Given the description of an element on the screen output the (x, y) to click on. 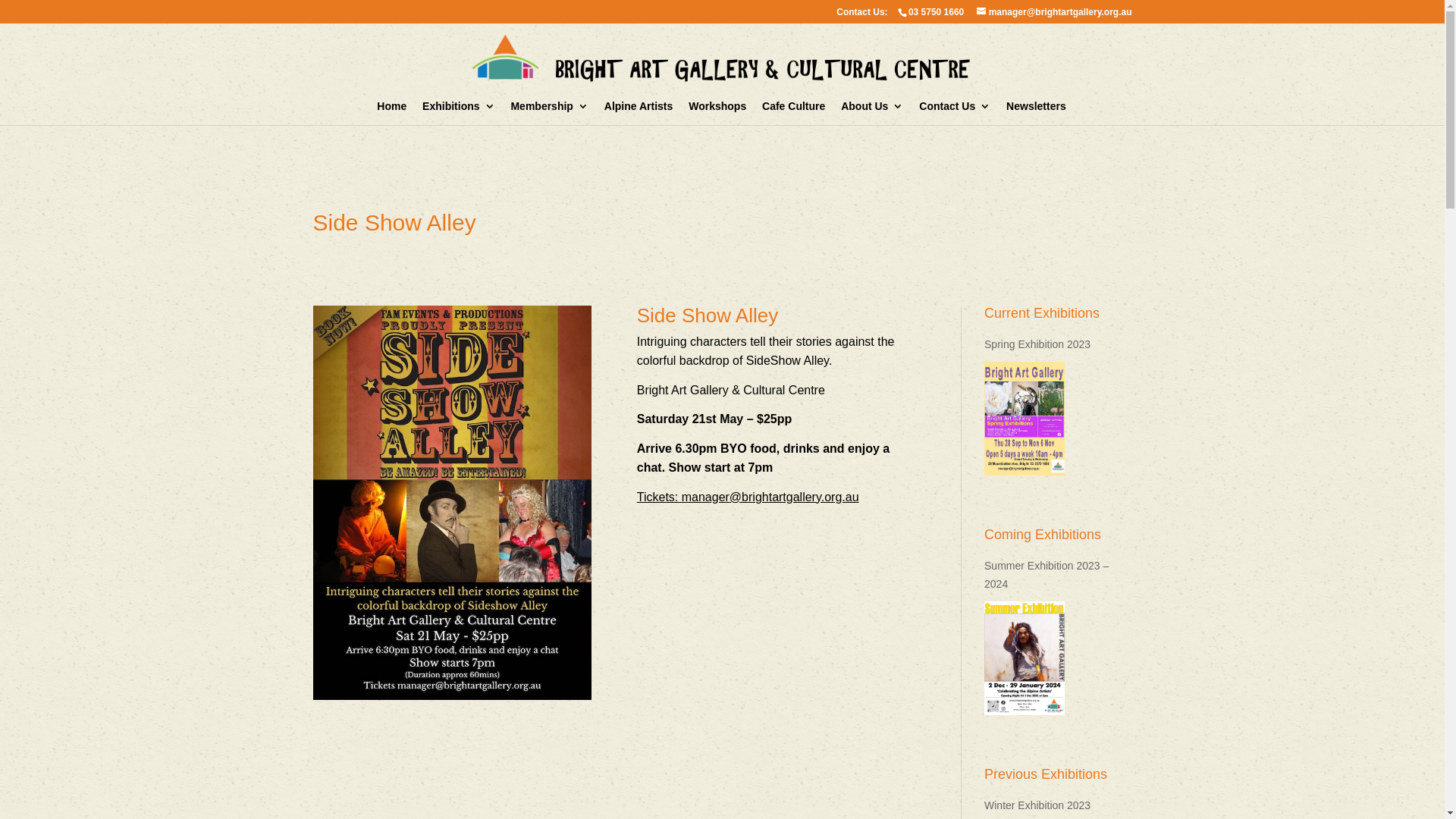
About Us Element type: text (871, 112)
Cafe Culture Element type: text (793, 112)
Spring Exhibition 2023 Element type: hover (1028, 418)
Home Element type: text (391, 112)
Contact Us Element type: text (954, 112)
Exhibitions Element type: text (458, 112)
Alpine Artists Element type: text (638, 112)
Winter Exhibition 2023 Element type: text (1057, 806)
manager@brightartgallery.org.au Element type: text (1054, 11)
Membership Element type: text (548, 112)
Spring Exhibition 2023 Element type: text (1057, 344)
03 5750 1660 Element type: text (935, 11)
BrightArtGallerySideshowPoster Element type: hover (451, 502)
Newsletters Element type: text (1036, 112)
Workshops Element type: text (717, 112)
